Given the description of an element on the screen output the (x, y) to click on. 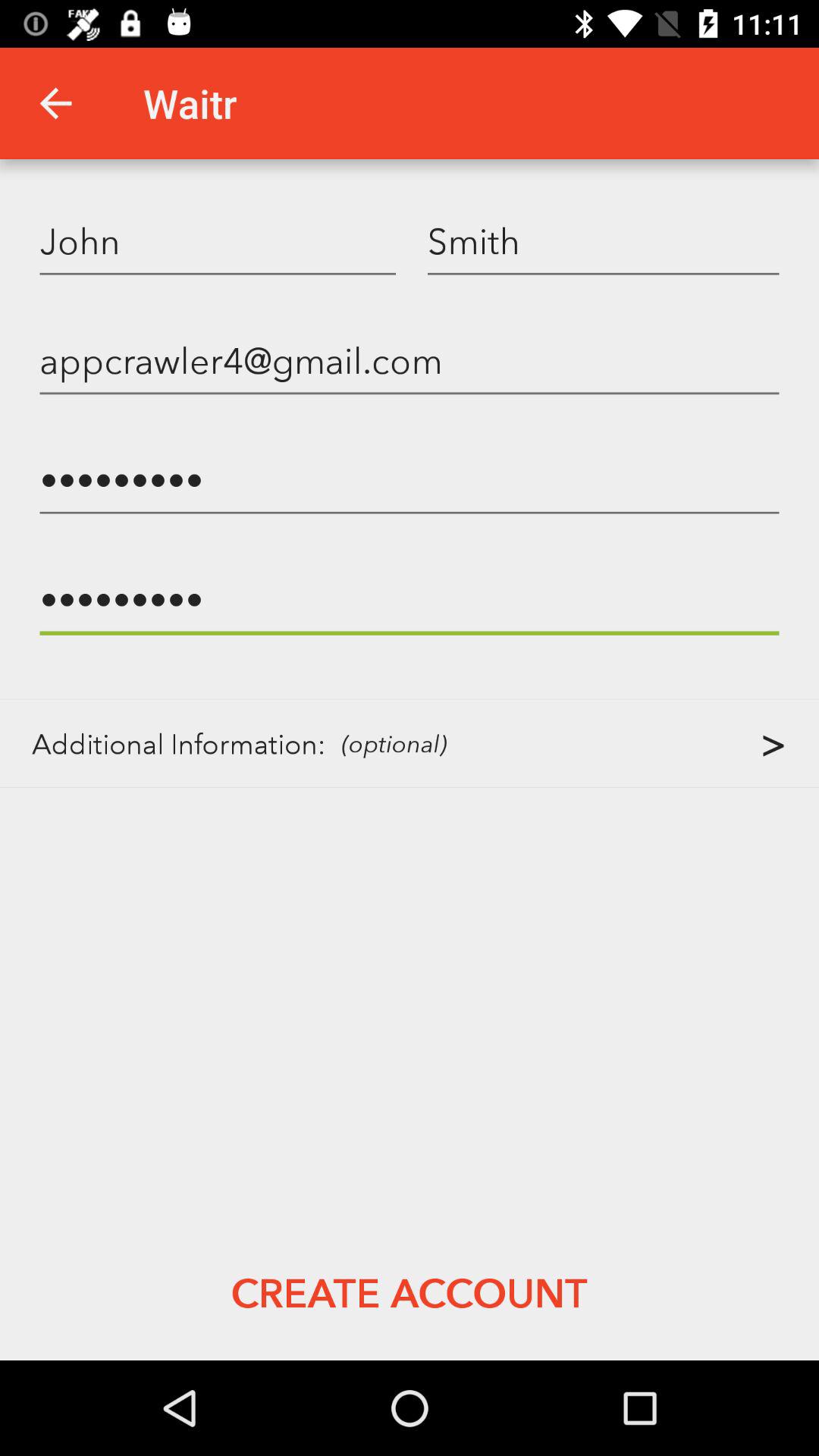
swipe to appcrawler4@gmail.com icon (409, 360)
